Given the description of an element on the screen output the (x, y) to click on. 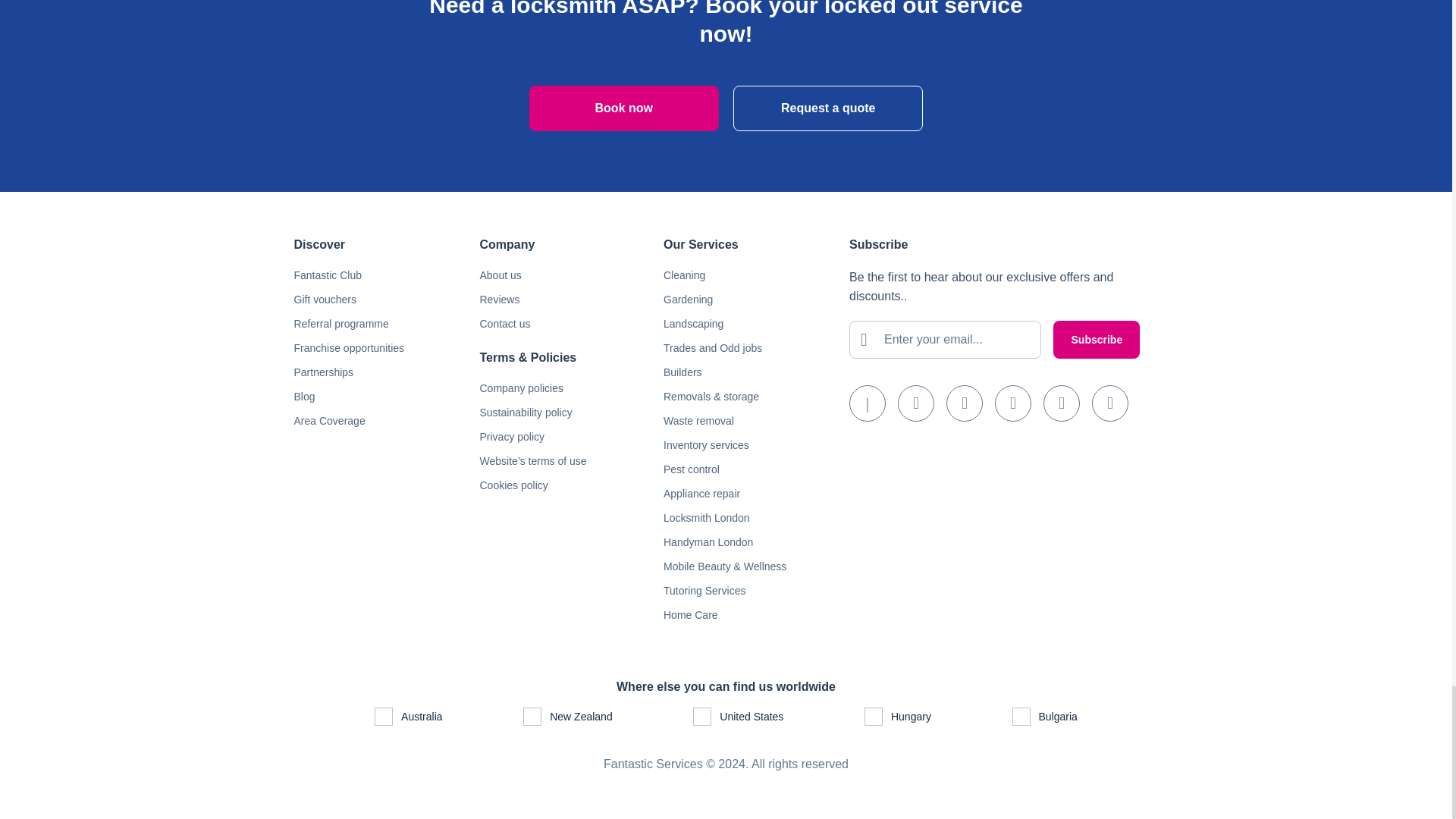
Subscribe (1096, 339)
